Given the description of an element on the screen output the (x, y) to click on. 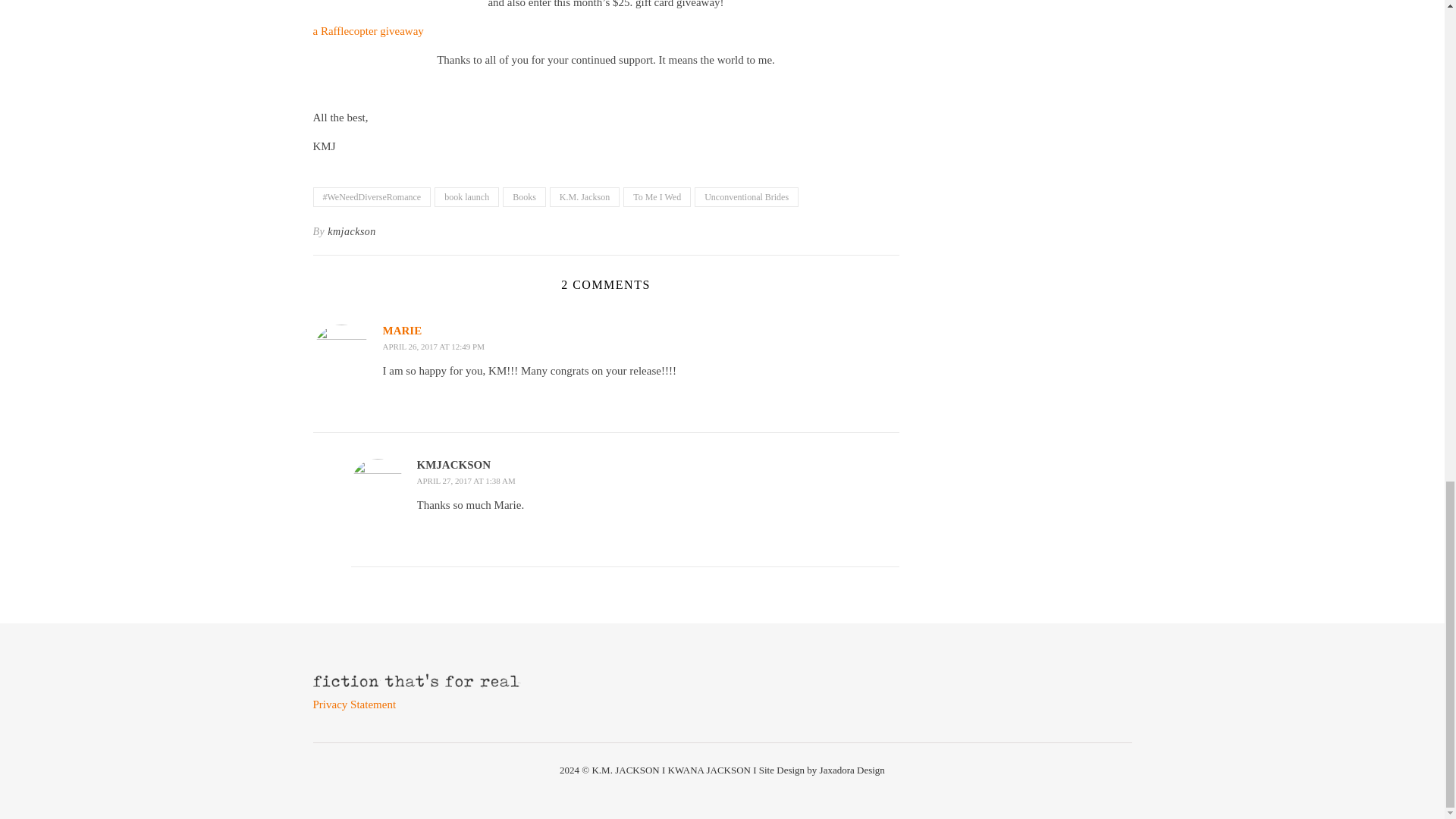
Fiction that's for real (435, 681)
Posts by kmjackson (351, 231)
